Given the description of an element on the screen output the (x, y) to click on. 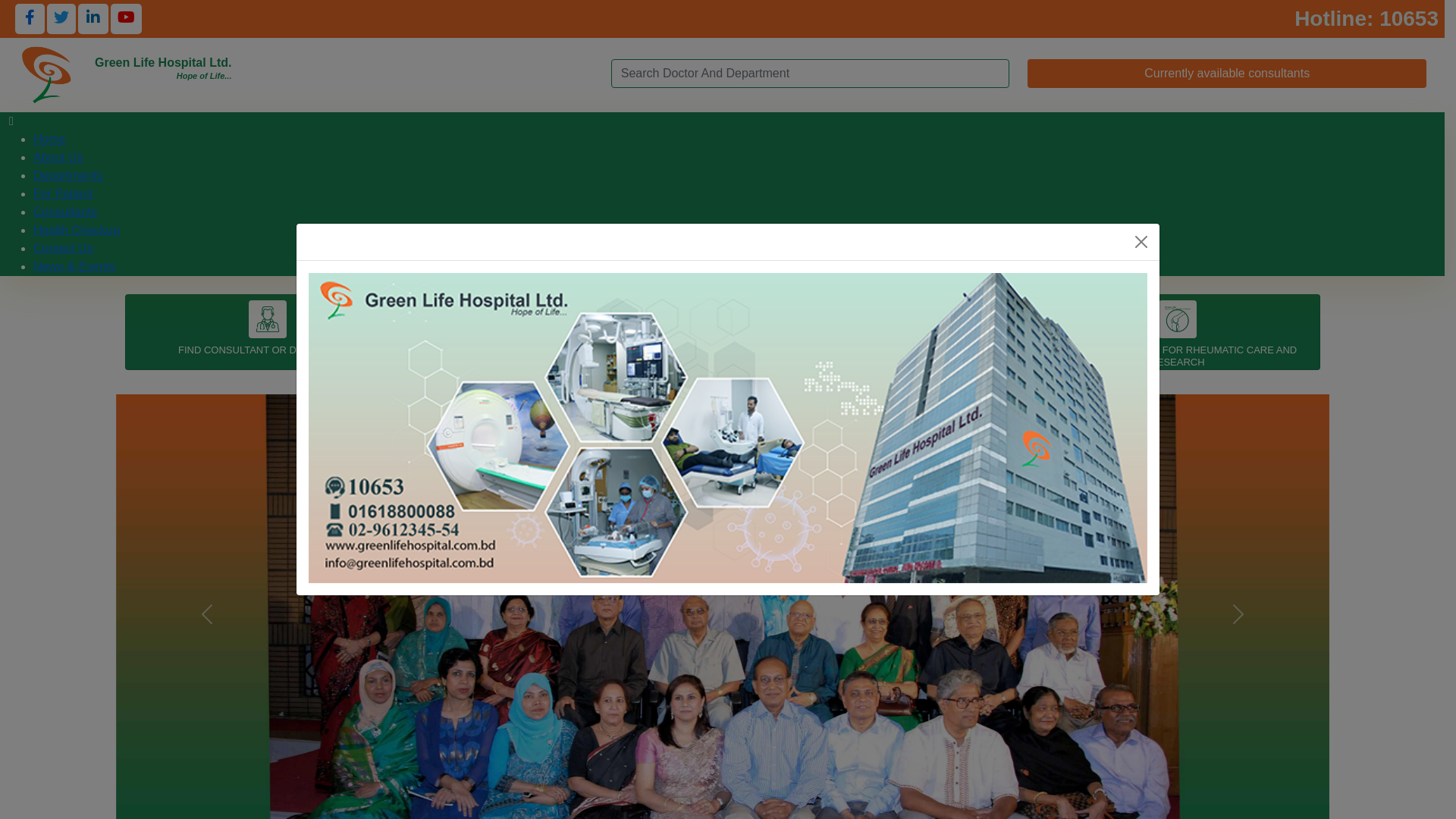
GREEN LIFE HEART CENTER Element type: text (570, 336)
GREEN LIFE ENDO-LAPAROSCOPIC CENTRE Element type: text (874, 336)
GREEN LIFE CENTER FOR RHEUMATIC CARE AND RESEARCH Element type: text (1177, 342)
Departments Element type: text (68, 175)
Green Life Hospital Ltd.
Hope of Life... Element type: text (162, 75)
For Patient Element type: text (62, 193)
Contact Us Element type: text (63, 247)
Health Checkup Element type: text (76, 229)
About Us Element type: text (58, 156)
Consultants Element type: text (65, 211)
News & Events Element type: text (74, 266)
Currently available consultants Element type: text (1226, 73)
Home Element type: text (49, 138)
